Given the description of an element on the screen output the (x, y) to click on. 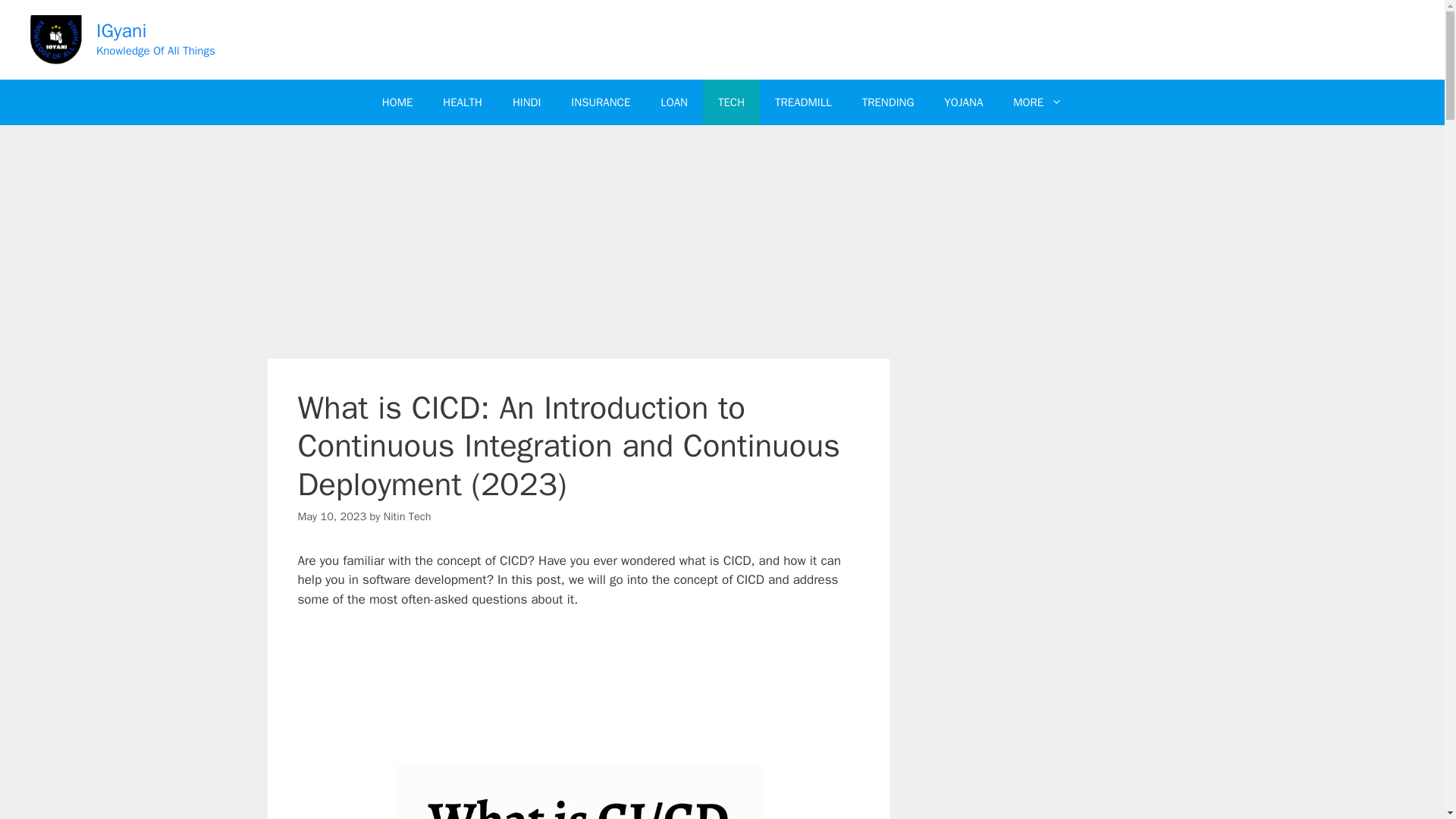
View all posts by Nitin Tech (407, 516)
Nitin Tech (407, 516)
Advertisement (577, 246)
TECH (731, 102)
HEALTH (462, 102)
Advertisement (577, 693)
TRENDING (888, 102)
INSURANCE (600, 102)
HINDI (526, 102)
LOAN (674, 102)
